Given the description of an element on the screen output the (x, y) to click on. 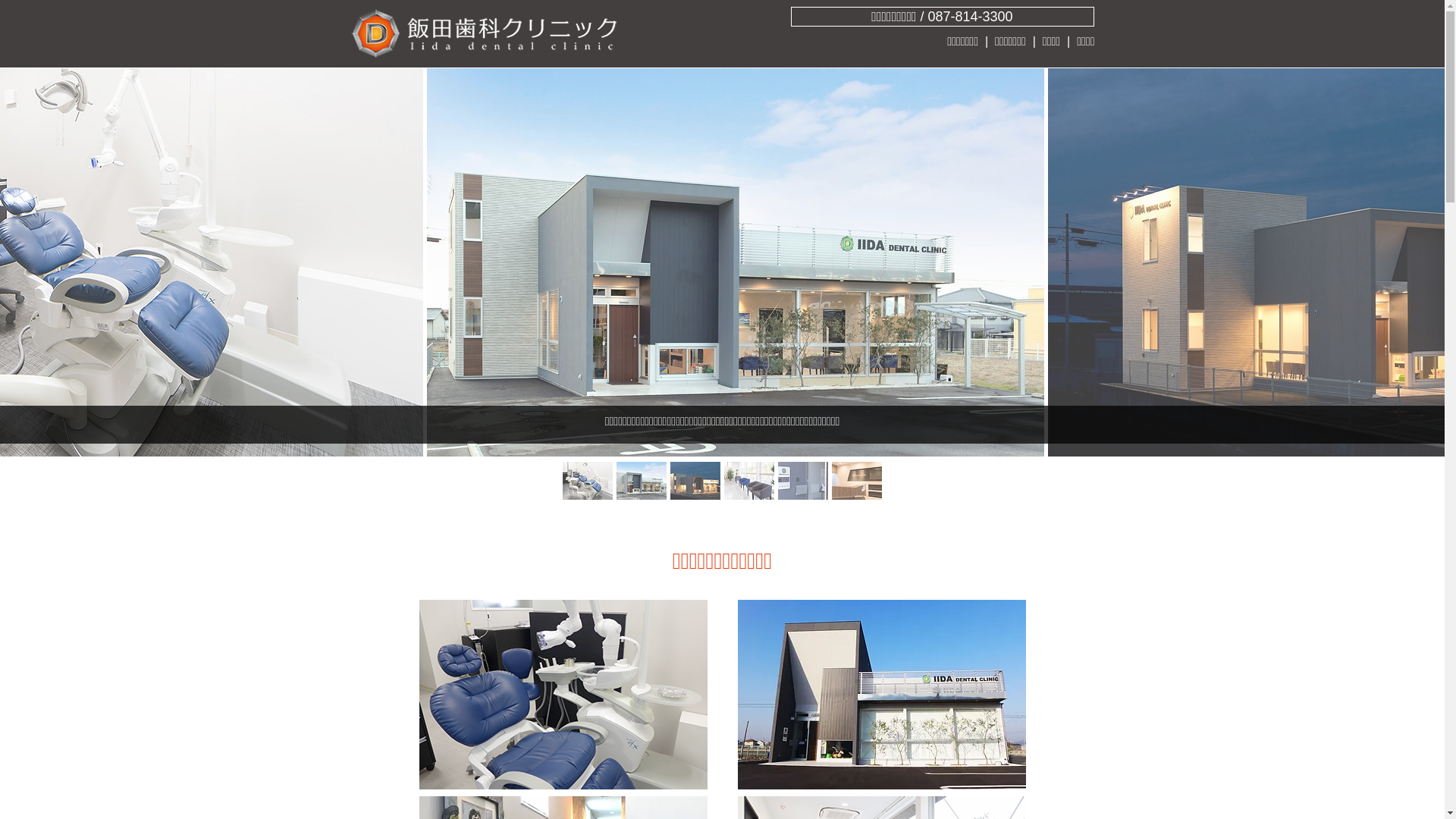
img_shop002.png Element type: hover (562, 694)
th_IMG_1789.png Element type: hover (881, 694)
